Given the description of an element on the screen output the (x, y) to click on. 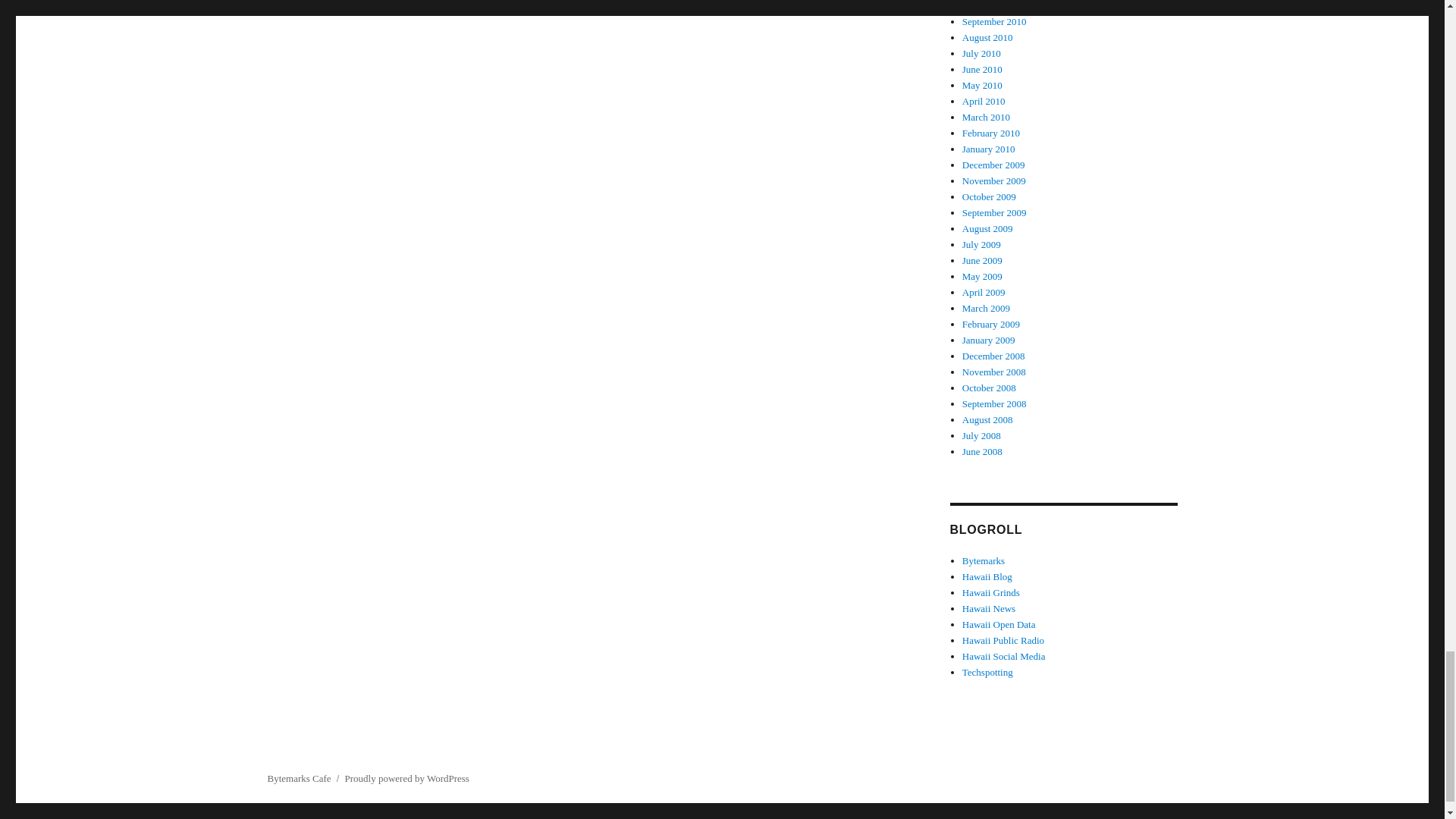
Hawaii Blog (986, 576)
Hawaii Food Blog (991, 592)
Bytemarks (983, 560)
